Given the description of an element on the screen output the (x, y) to click on. 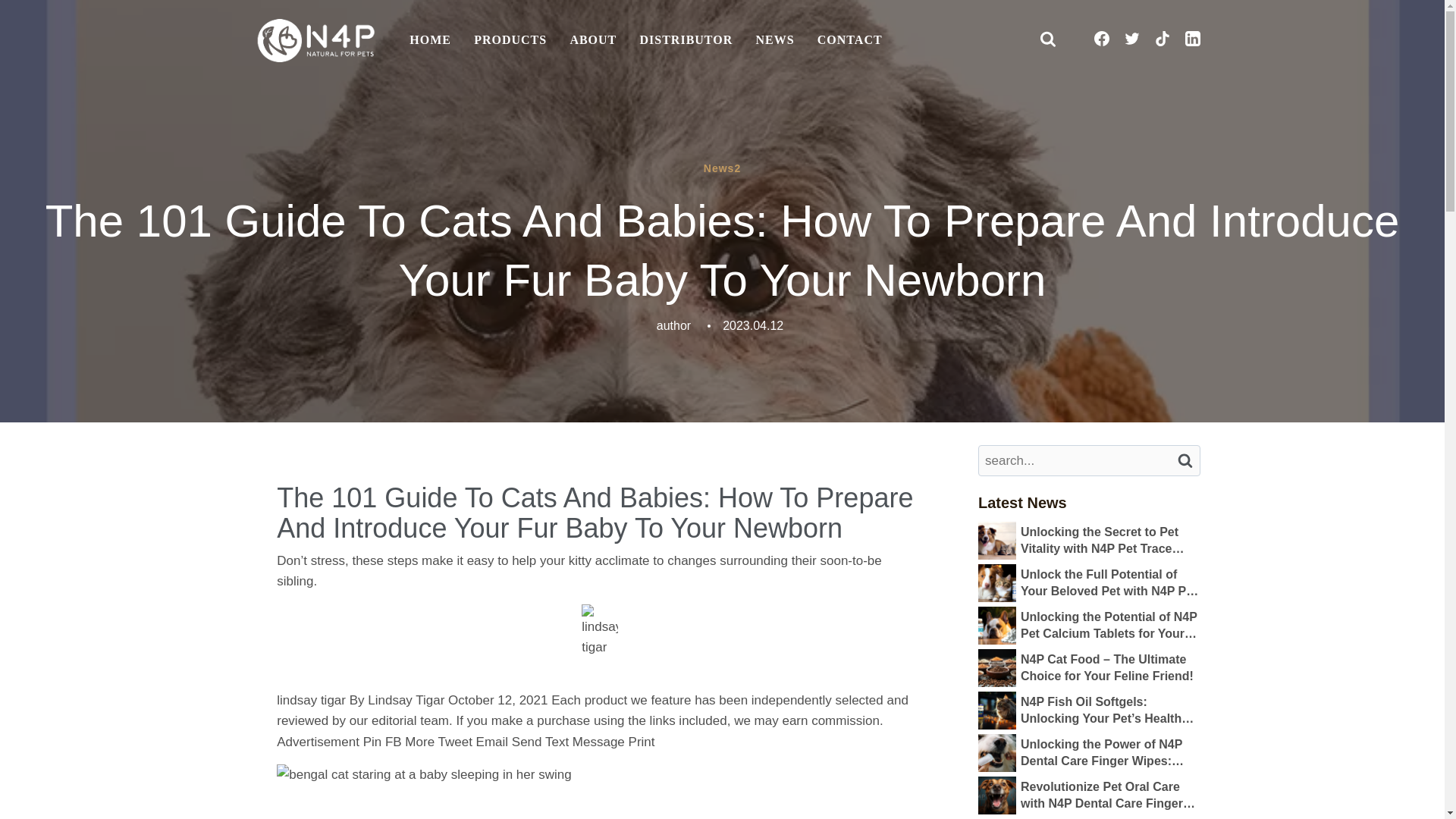
News2 (722, 168)
ABOUT (592, 40)
HOME (430, 40)
PRODUCTS (510, 40)
search (1184, 459)
CONTACT (849, 40)
NEWS (774, 40)
N4P Natural for Pets (314, 40)
DISTRIBUTOR (685, 40)
